Given the description of an element on the screen output the (x, y) to click on. 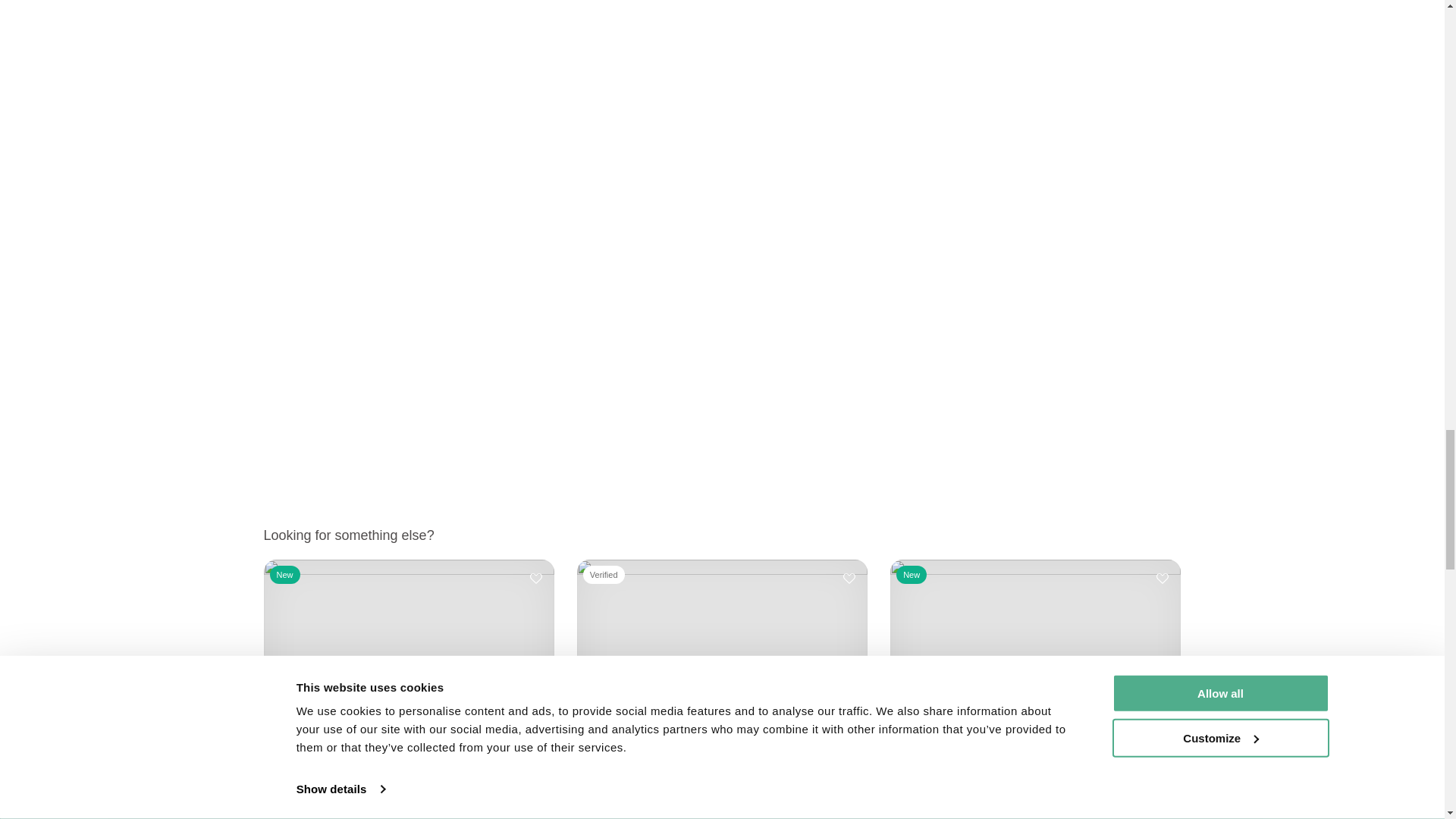
Save (1162, 578)
Save (849, 578)
Save (535, 578)
